Given the description of an element on the screen output the (x, y) to click on. 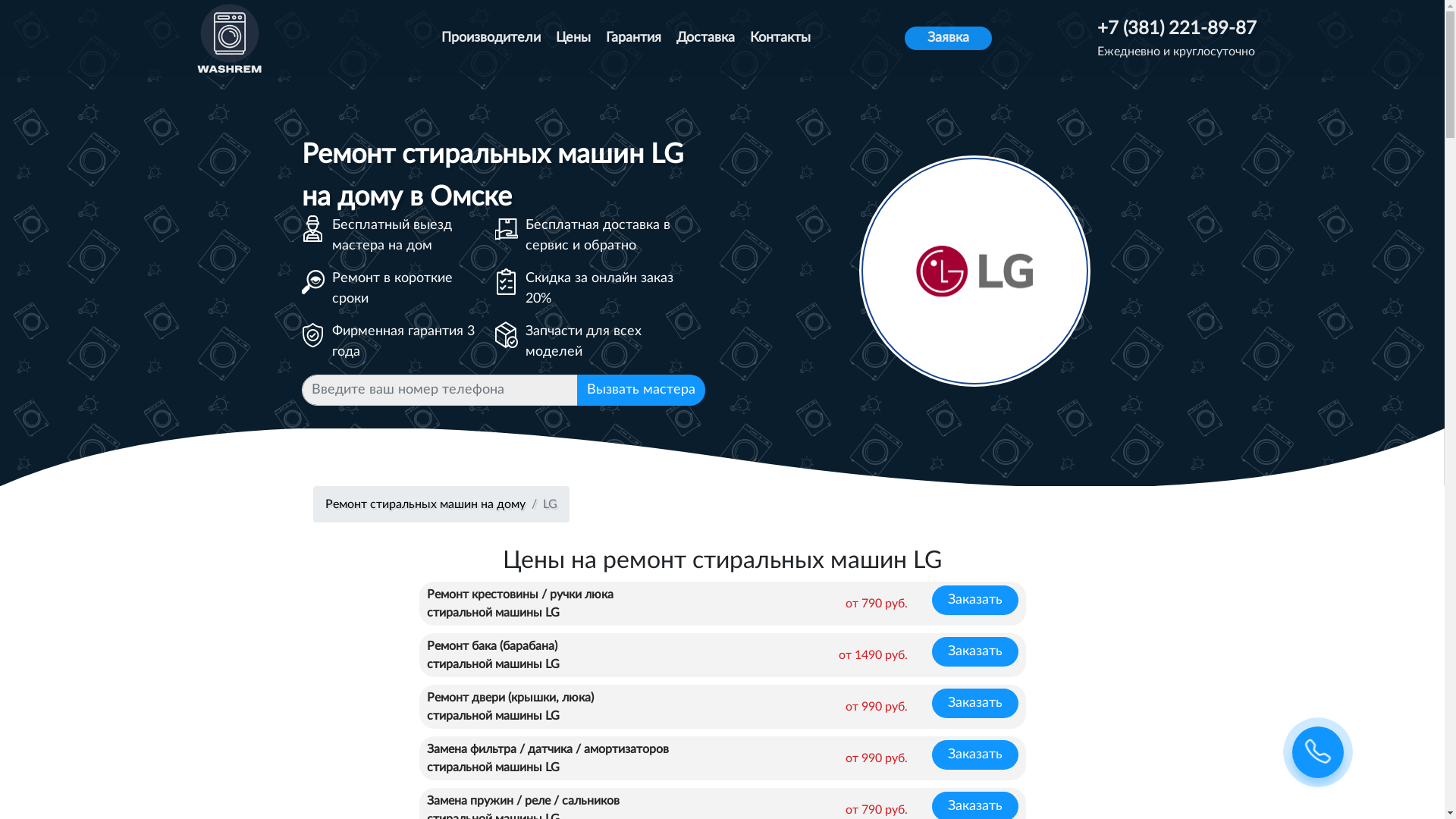
+7 (381) 221-89-87 Element type: text (1176, 28)
